Given the description of an element on the screen output the (x, y) to click on. 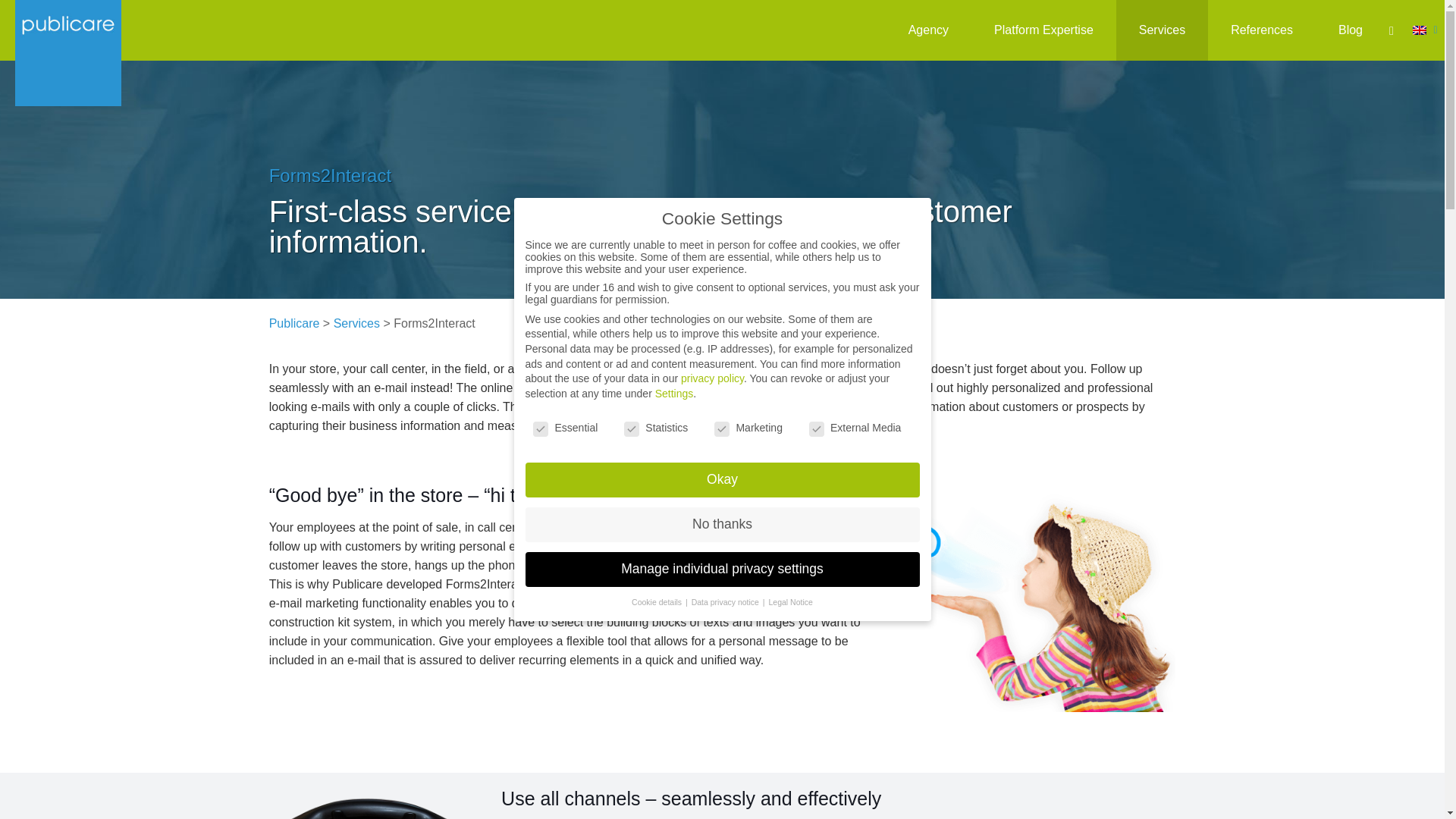
Blog (1351, 30)
Publicare (67, 53)
Maedchen (1032, 597)
Services (1162, 30)
Platform Expertise (1043, 30)
References (1262, 30)
Agency (928, 30)
